Given the description of an element on the screen output the (x, y) to click on. 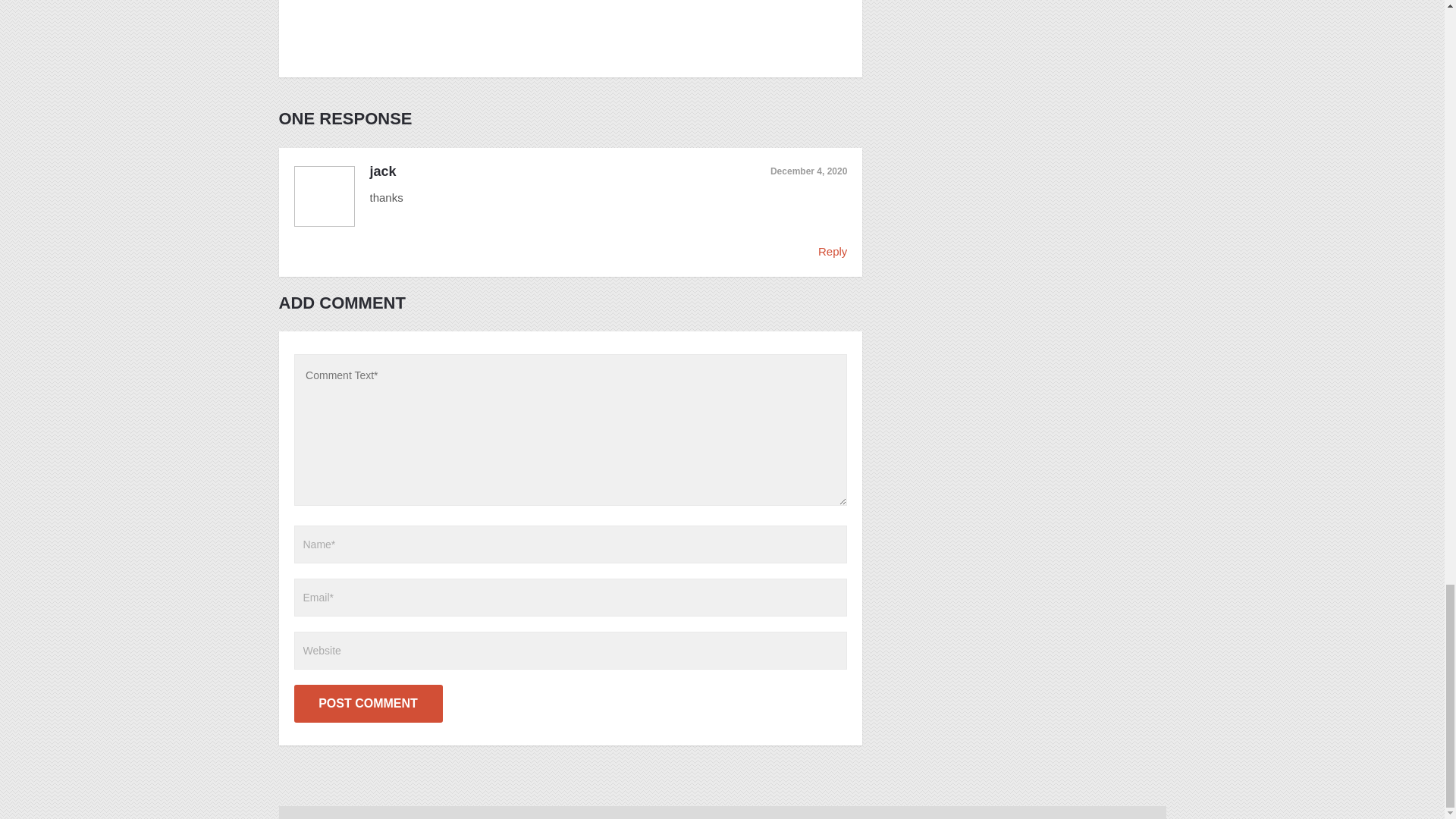
Post Comment (368, 703)
Post Comment (368, 703)
Reply (832, 251)
